Given the description of an element on the screen output the (x, y) to click on. 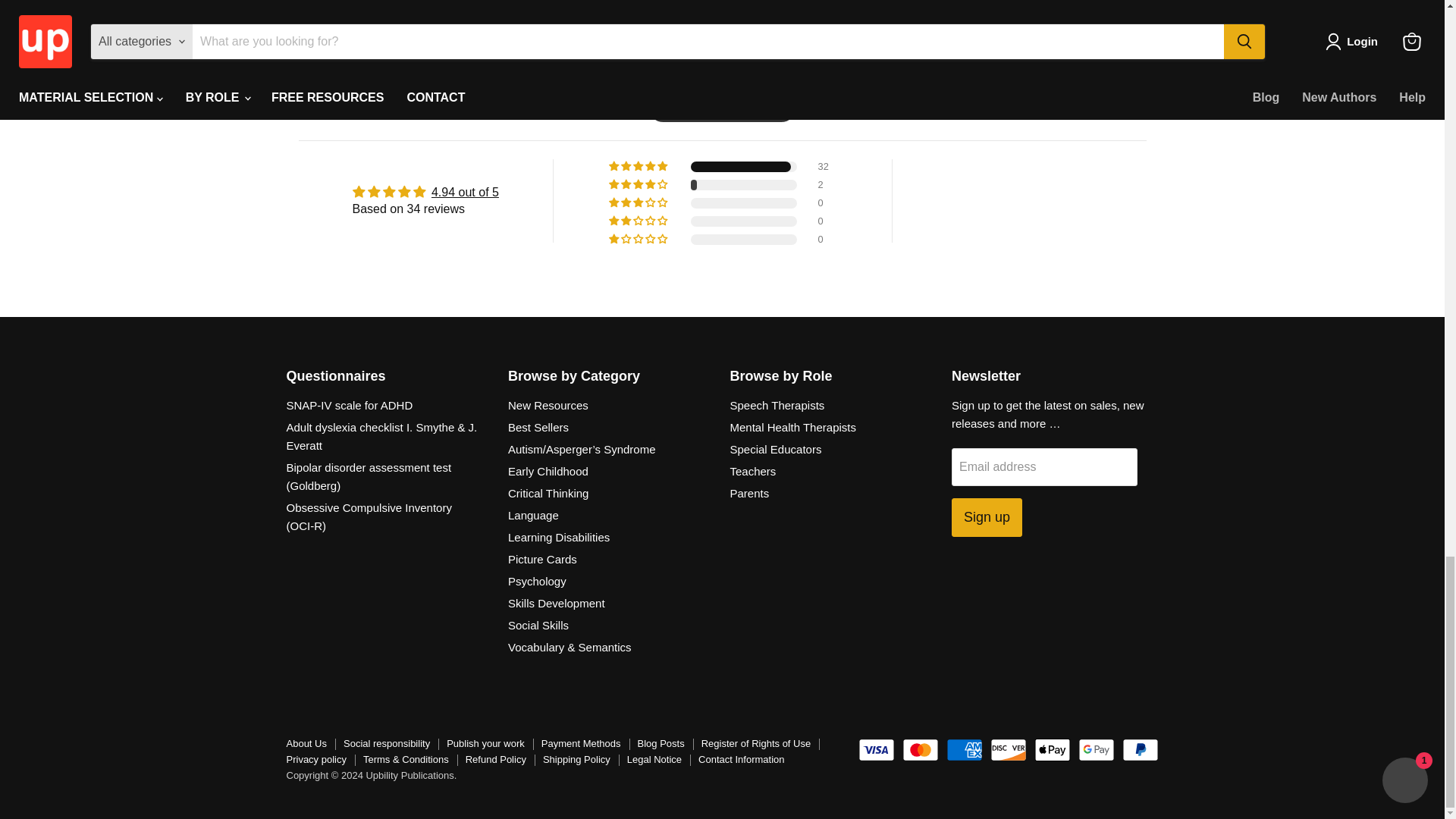
Mastercard (920, 749)
Visa (877, 749)
American Express (964, 749)
